Given the description of an element on the screen output the (x, y) to click on. 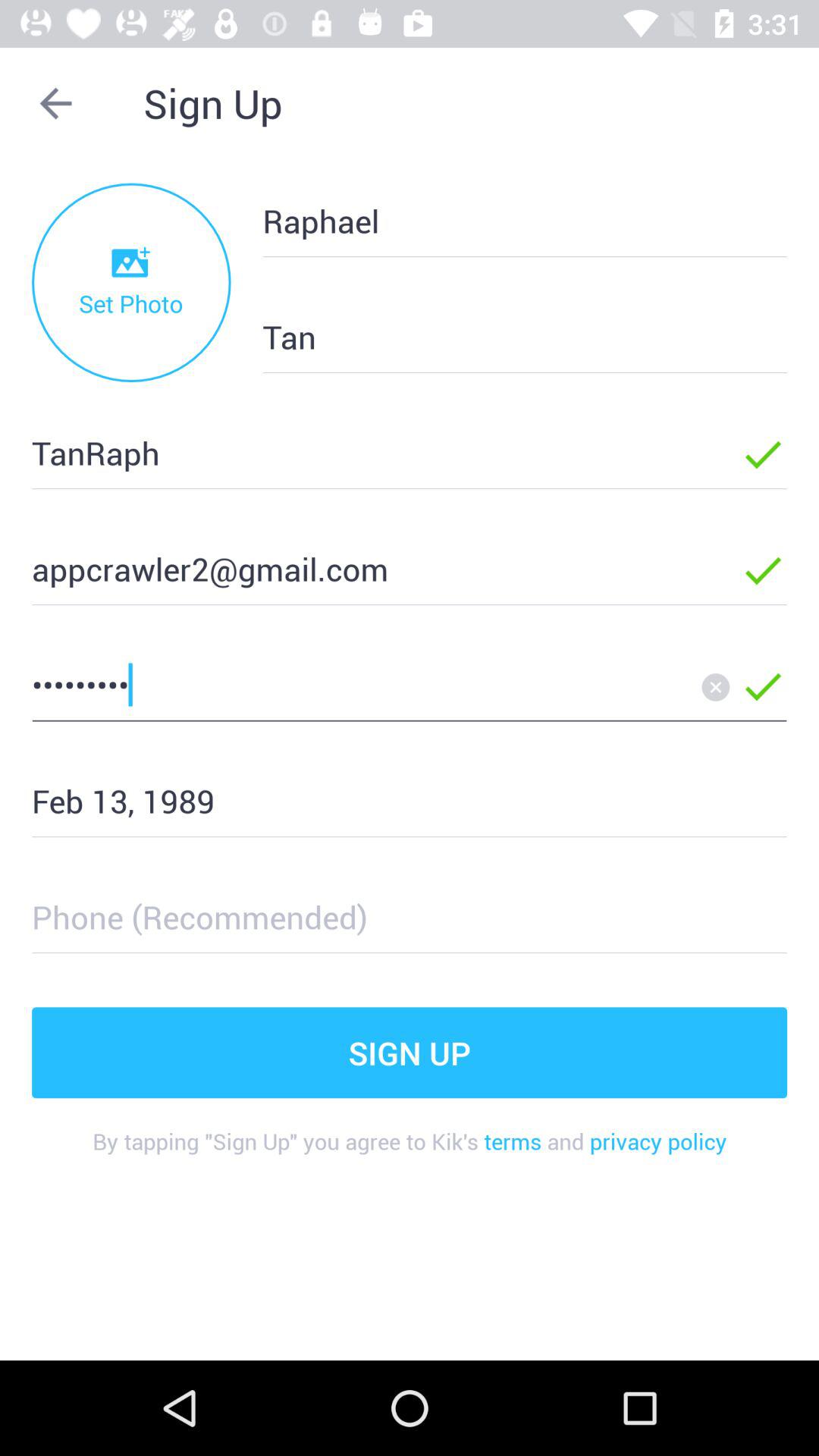
open item below sign up icon (409, 1153)
